Given the description of an element on the screen output the (x, y) to click on. 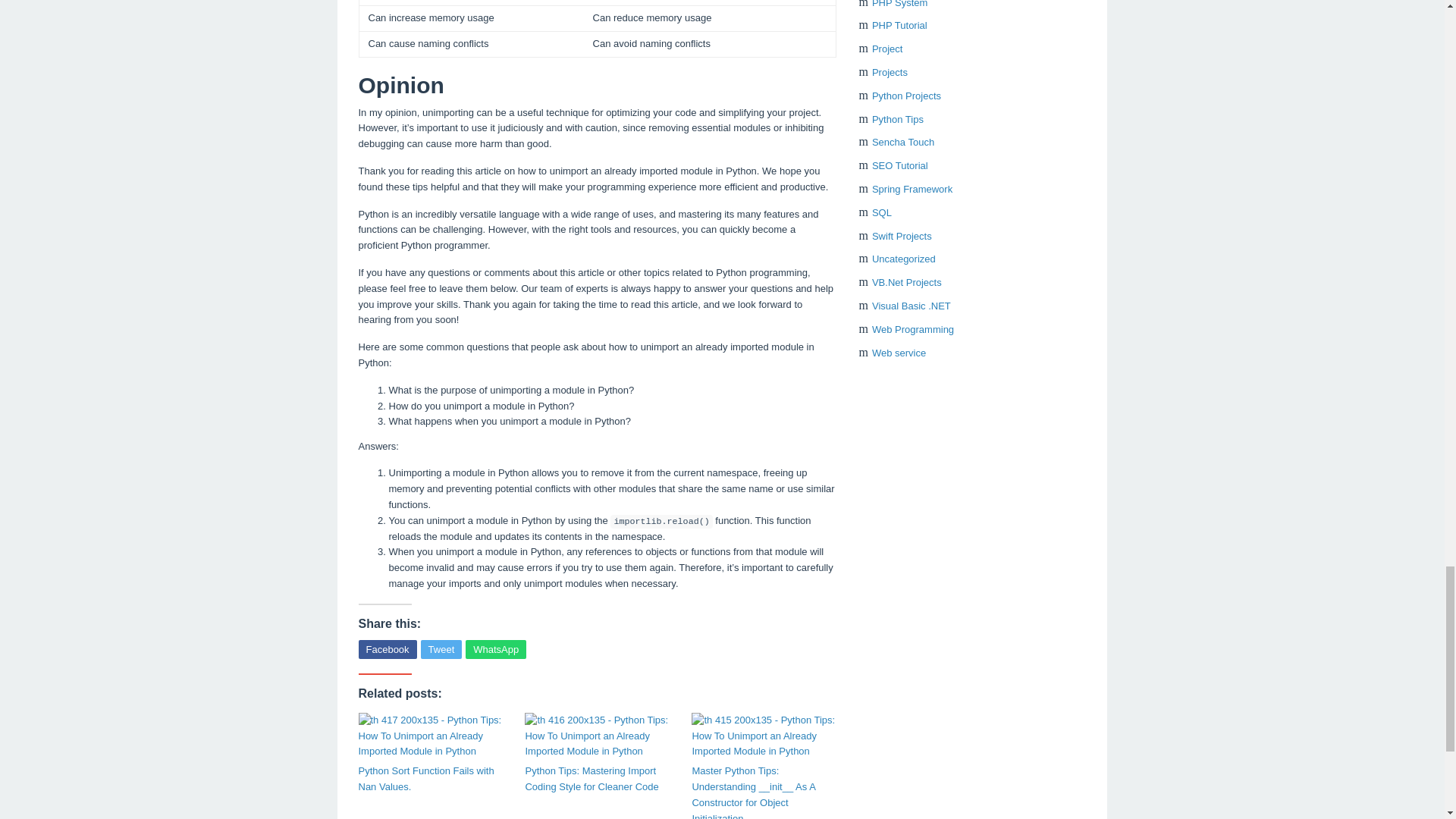
WhatsApp (495, 649)
Python Sort Function Fails with Nan Values. (430, 779)
Facebook (387, 649)
Permalink to: Python Sort Function Fails with Nan Values. (430, 779)
Tweet this (441, 649)
Permalink to: Python Sort Function Fails with Nan Values. (430, 736)
Share this (387, 649)
Python Tips: Mastering Import Coding Style for Cleaner Code (596, 779)
WhatsApp this (495, 649)
Tweet (441, 649)
